Given the description of an element on the screen output the (x, y) to click on. 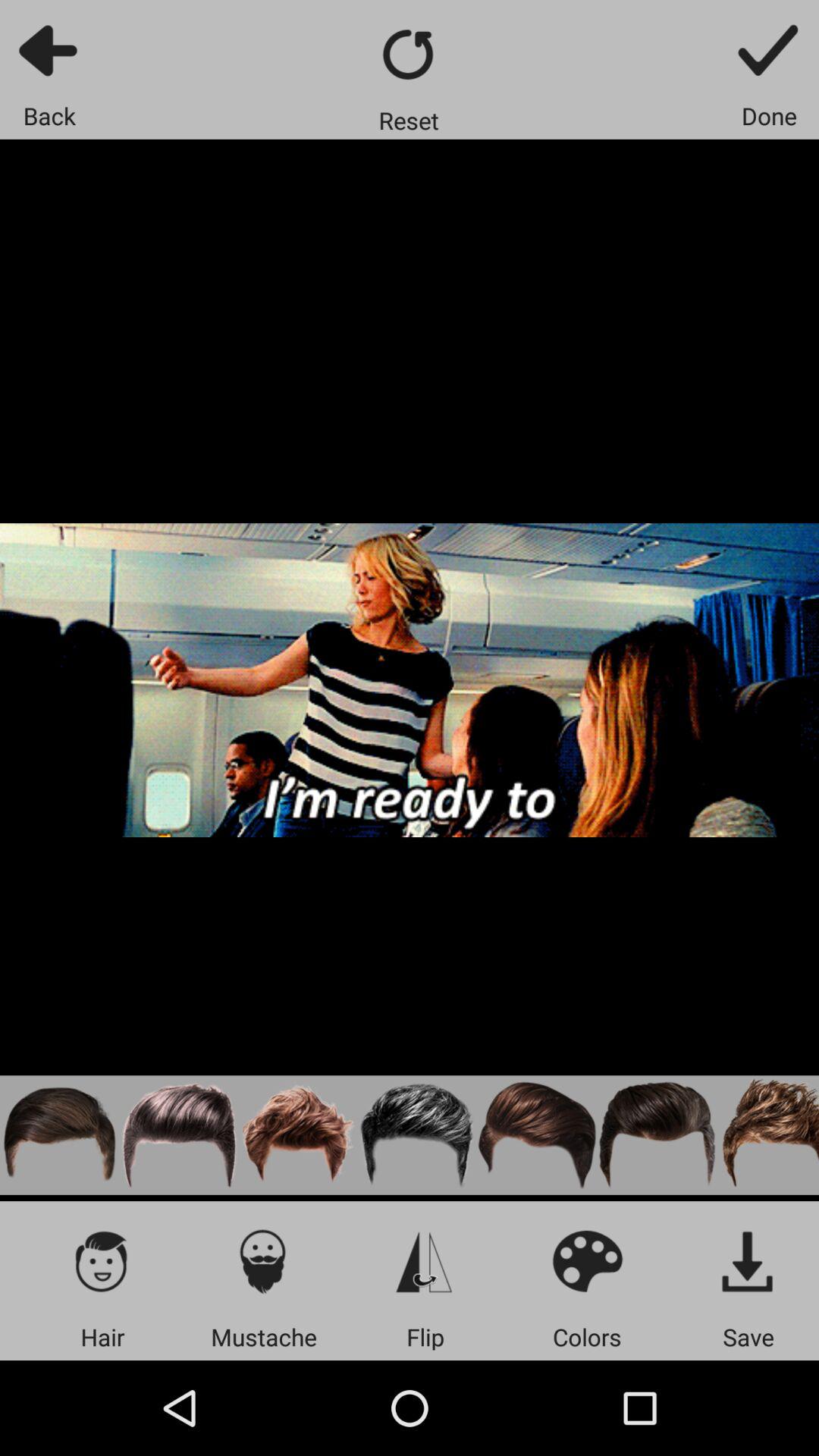
save meme (769, 49)
